Given the description of an element on the screen output the (x, y) to click on. 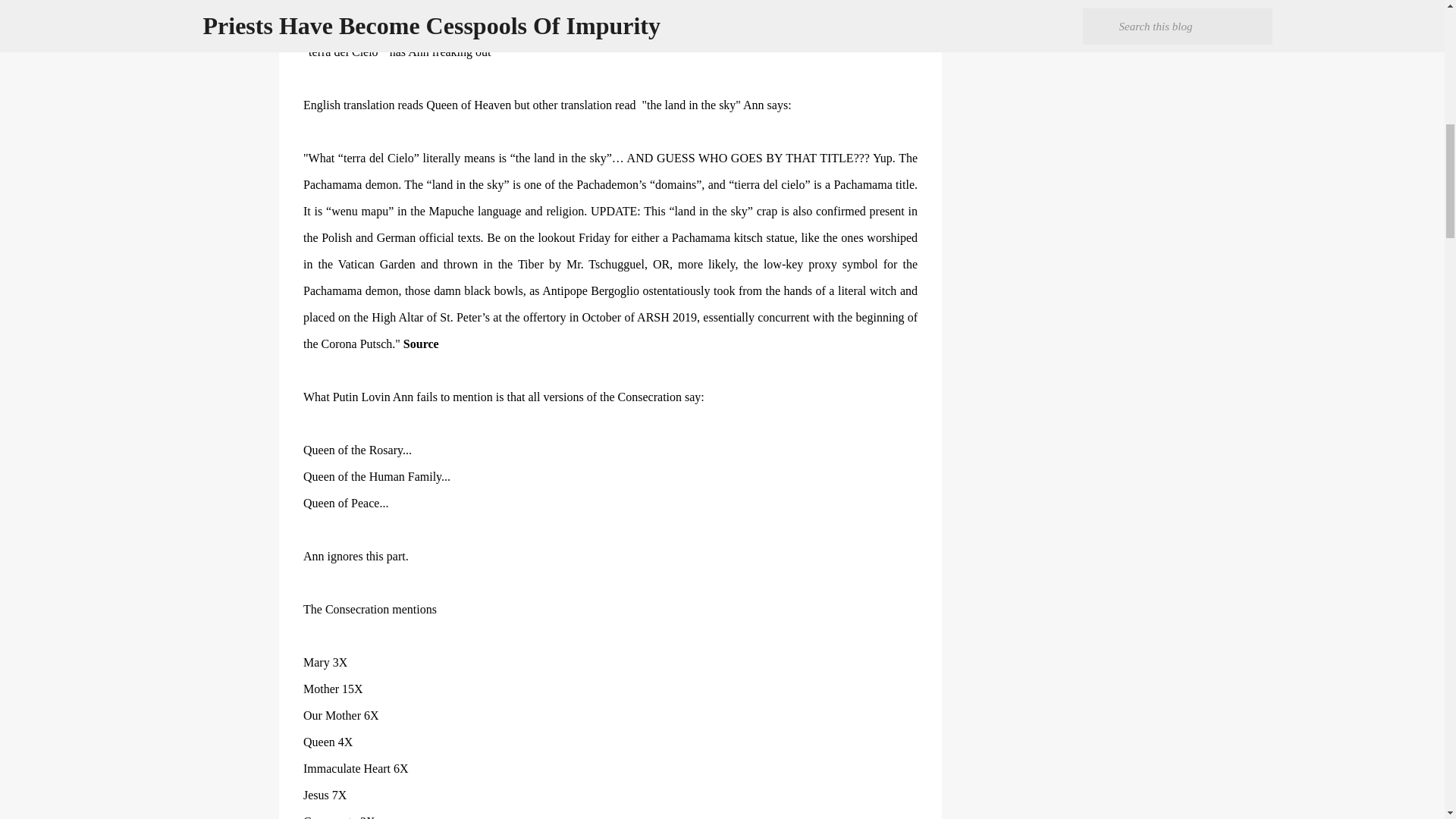
Source (421, 343)
